Given the description of an element on the screen output the (x, y) to click on. 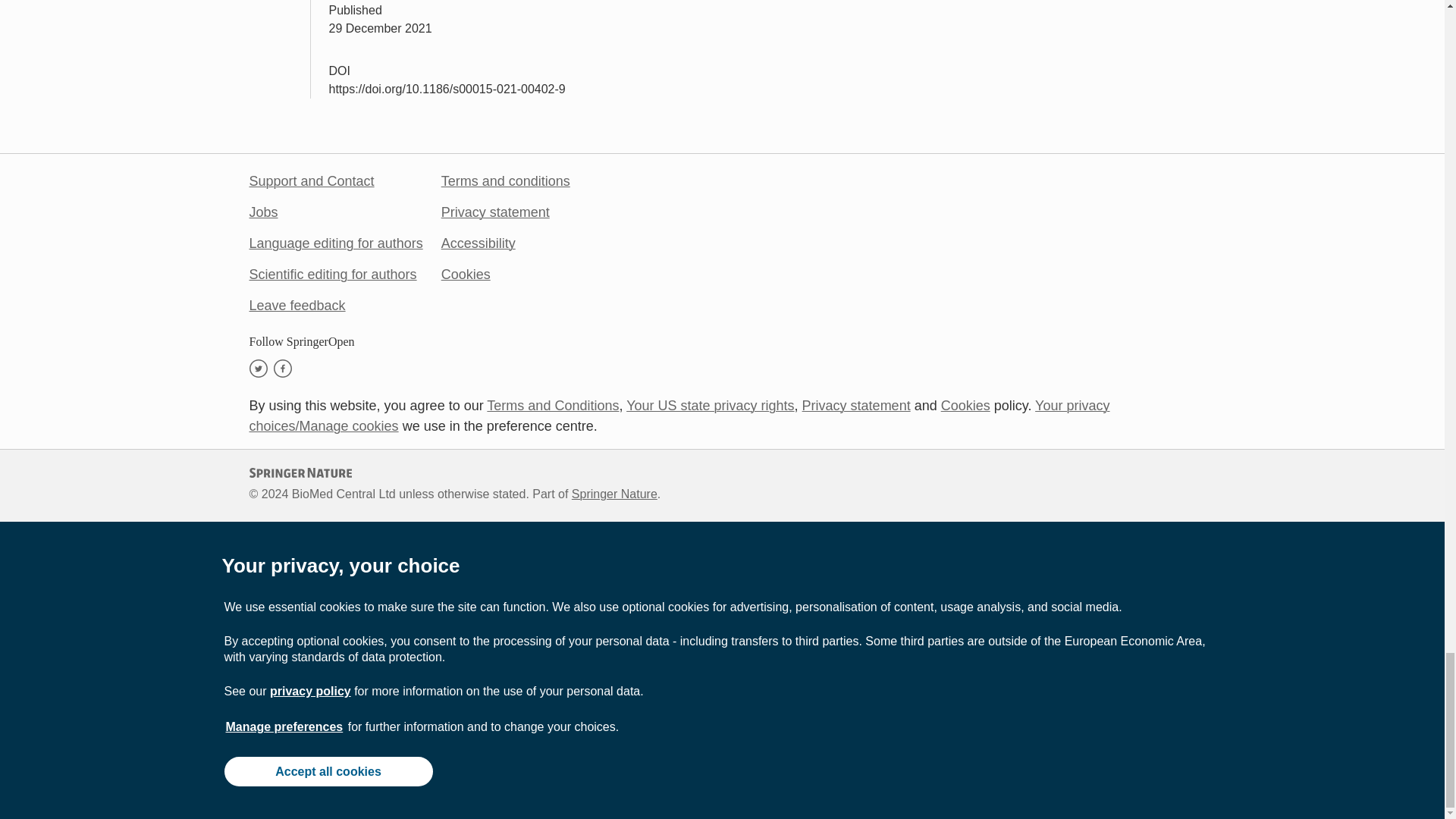
Cookies (465, 273)
Accessibility (478, 242)
Terms and Conditions (552, 405)
Jobs (263, 212)
Language editing for authors (335, 242)
Privacy statement (495, 212)
Leave feedback (296, 305)
Digital Object Identifier (339, 70)
Scientific editing for authors (332, 273)
Terms and conditions (505, 181)
